Given the description of an element on the screen output the (x, y) to click on. 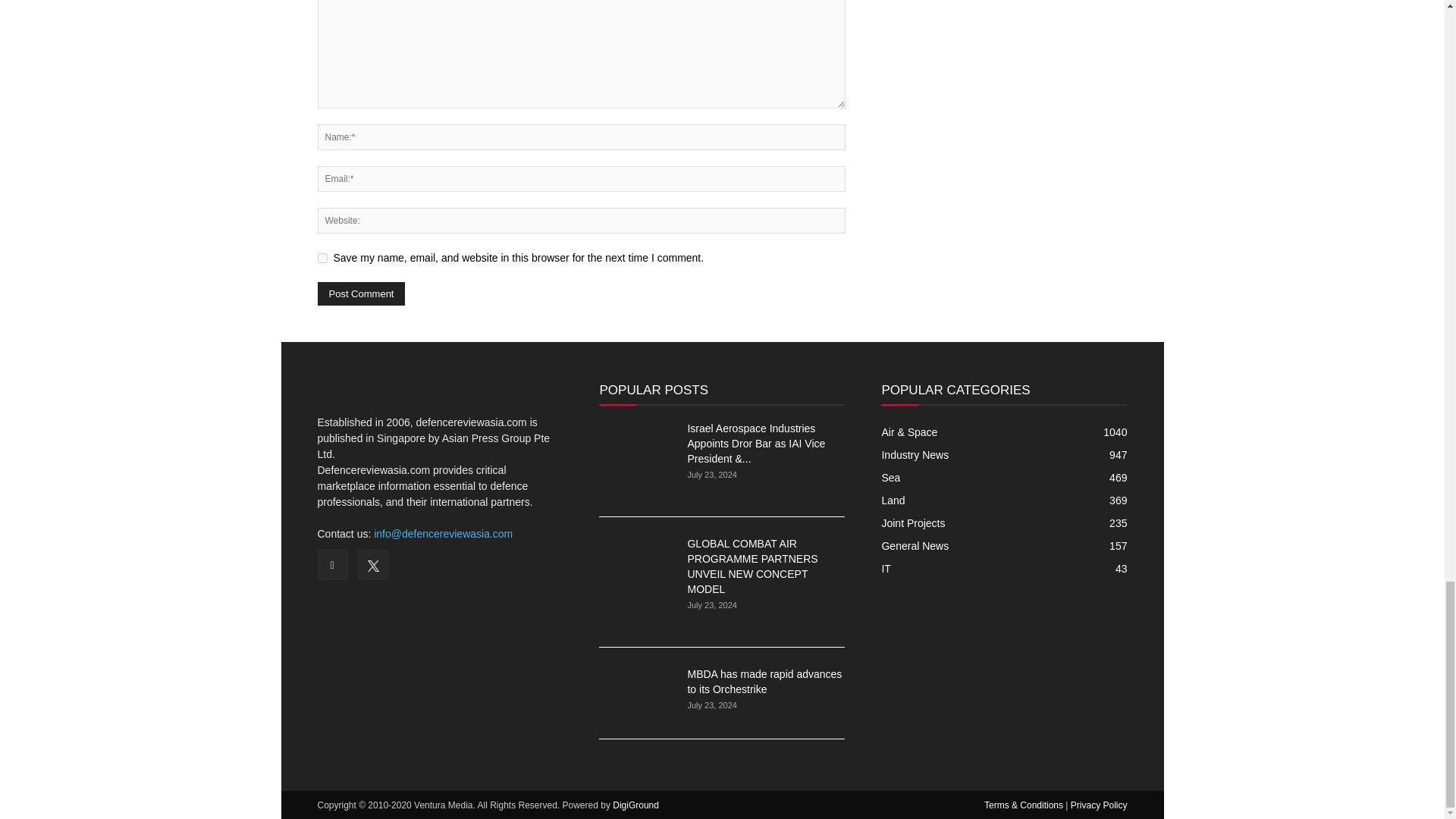
Post Comment (360, 293)
yes (321, 257)
